Given the description of an element on the screen output the (x, y) to click on. 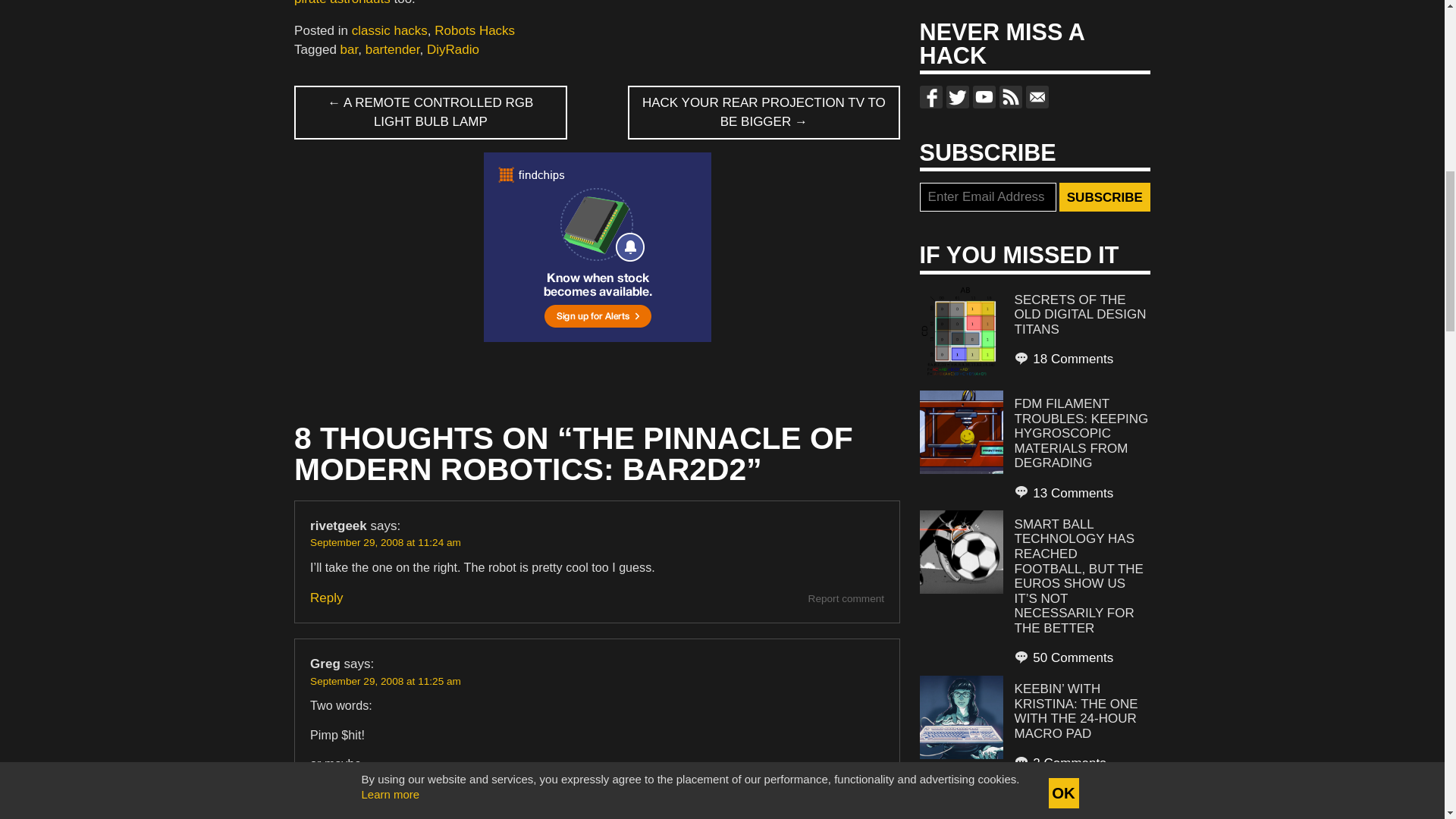
Subscribe (1104, 196)
Robots Hacks (474, 30)
DiyRadio (452, 49)
classic hacks (390, 30)
bartender (392, 49)
bar (349, 49)
